Given the description of an element on the screen output the (x, y) to click on. 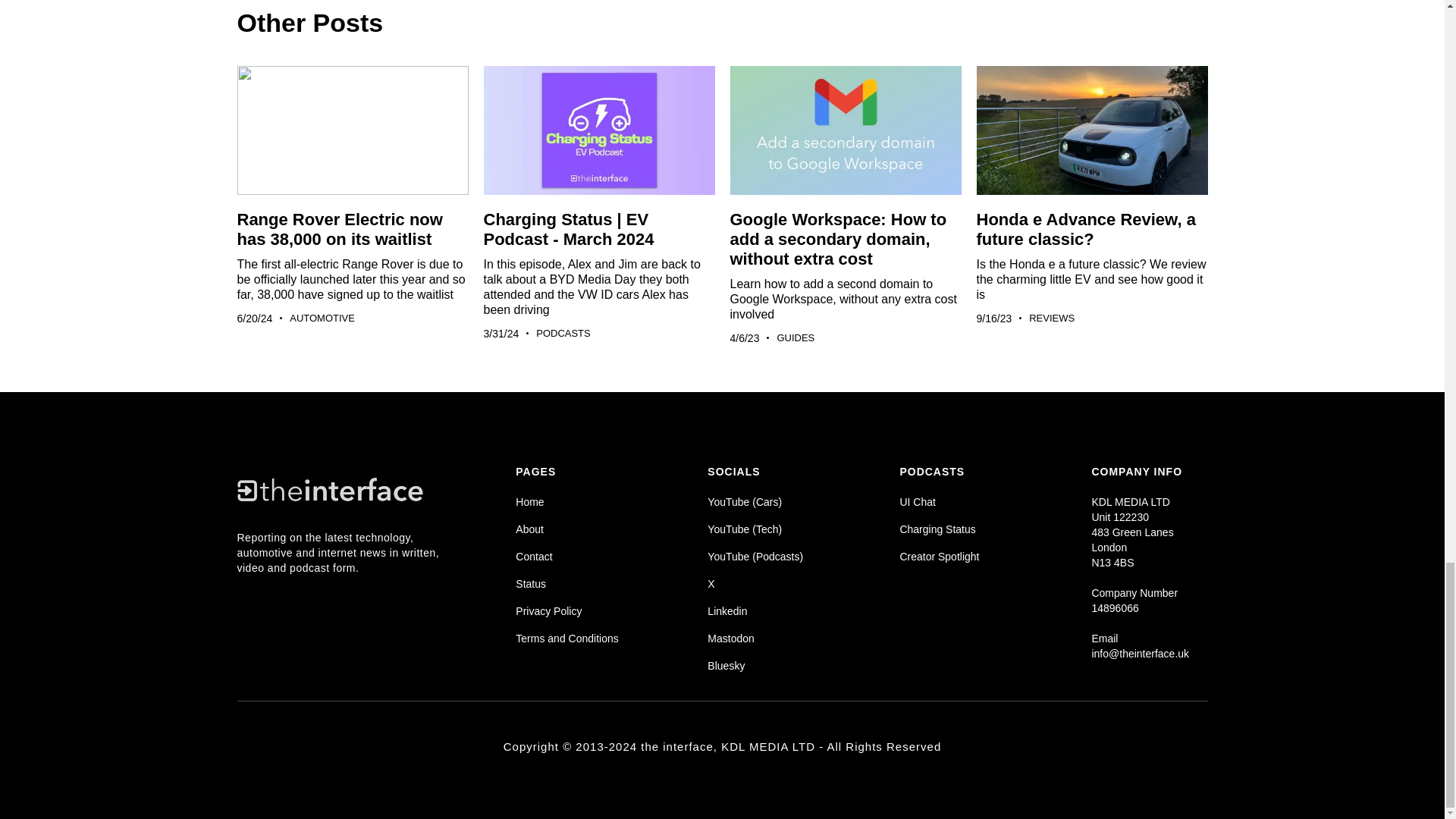
Home (573, 501)
AUTOMOTIVE (322, 318)
Status (573, 583)
Privacy Policy (573, 611)
Terms and Conditions (573, 638)
Range Rover Electric now has 38,000 on its waitlist (338, 228)
Contact (573, 556)
PODCASTS (563, 333)
GUIDES (794, 338)
About (573, 529)
Honda e Advance Review, a future classic? (1085, 228)
REVIEWS (1051, 318)
